Given the description of an element on the screen output the (x, y) to click on. 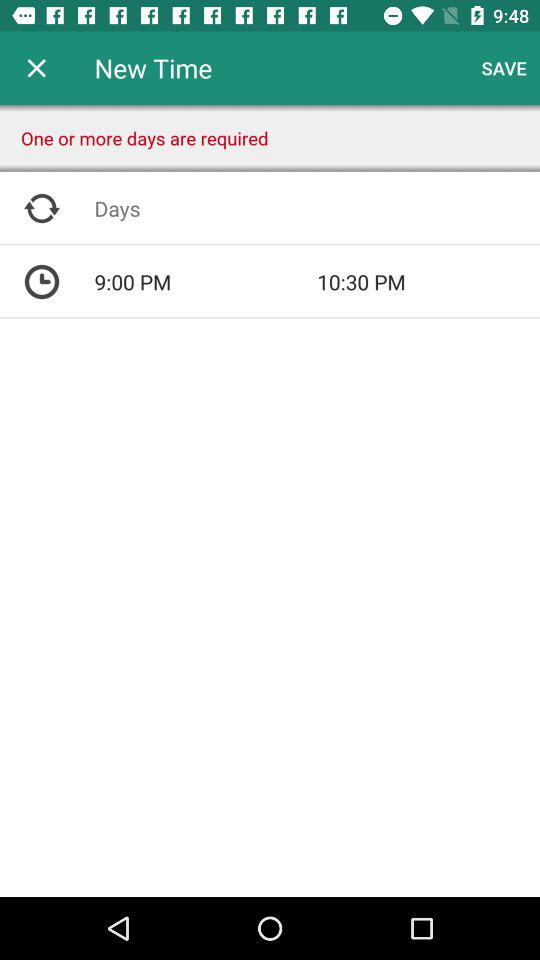
choose item next to the 10:30 pm (205, 281)
